Given the description of an element on the screen output the (x, y) to click on. 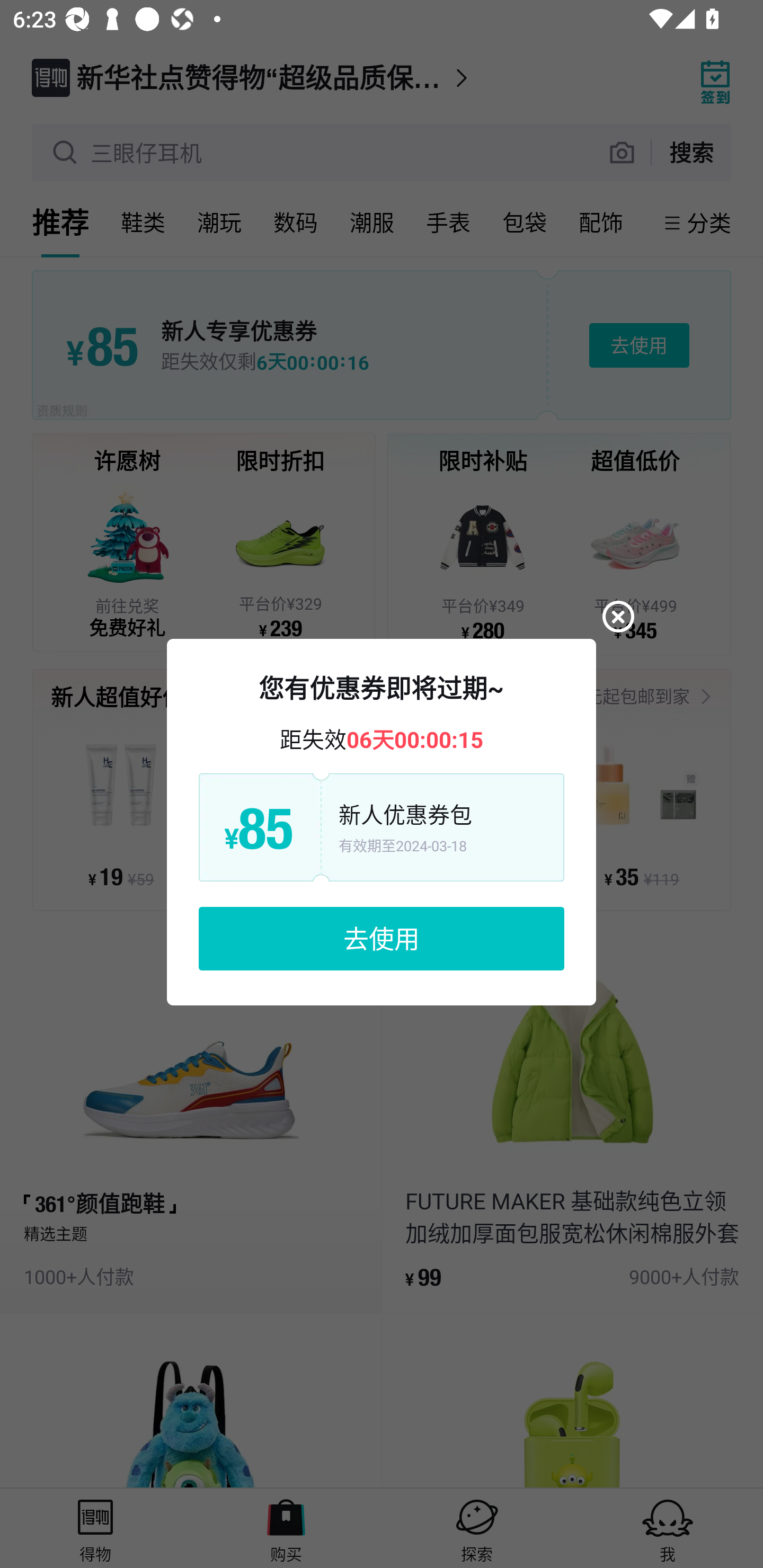
去使用 (381, 938)
